Given the description of an element on the screen output the (x, y) to click on. 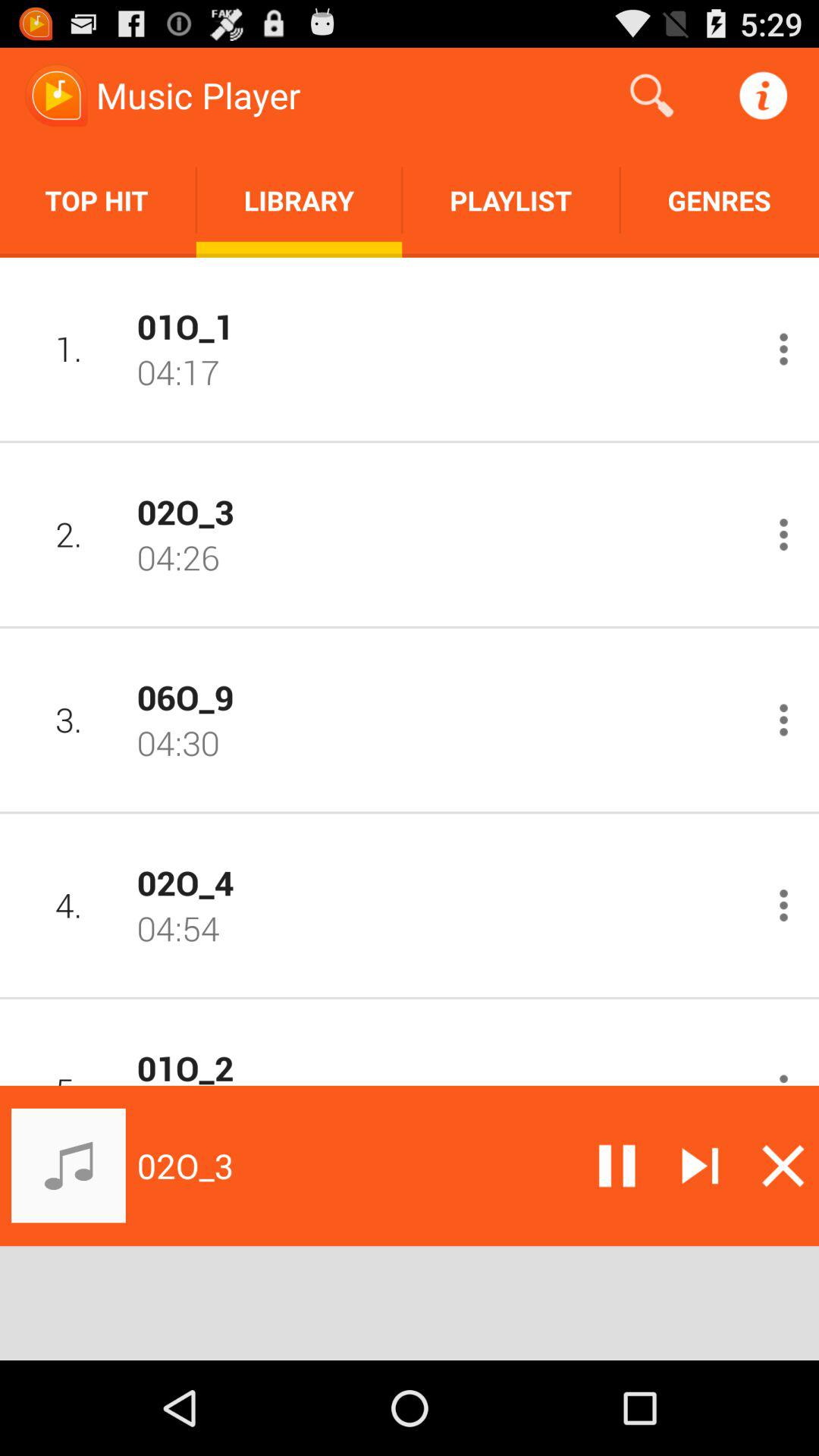
open the sub-menu for this song (783, 349)
